Given the description of an element on the screen output the (x, y) to click on. 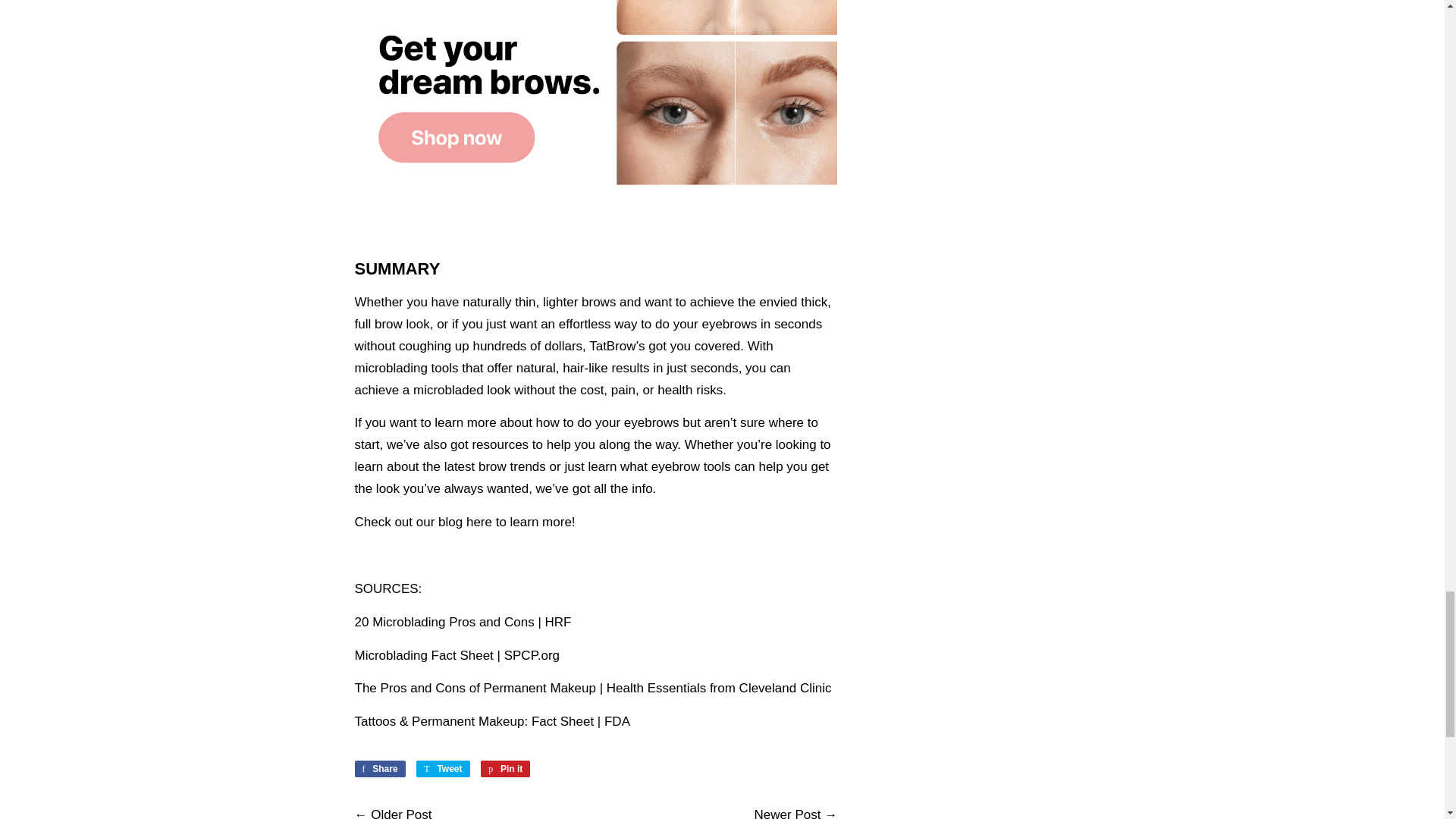
Older Post (400, 813)
Tweet on Twitter (442, 768)
Share on Facebook (380, 768)
Newer Post (442, 768)
our blog here (504, 768)
Pin on Pinterest (787, 813)
